Given the description of an element on the screen output the (x, y) to click on. 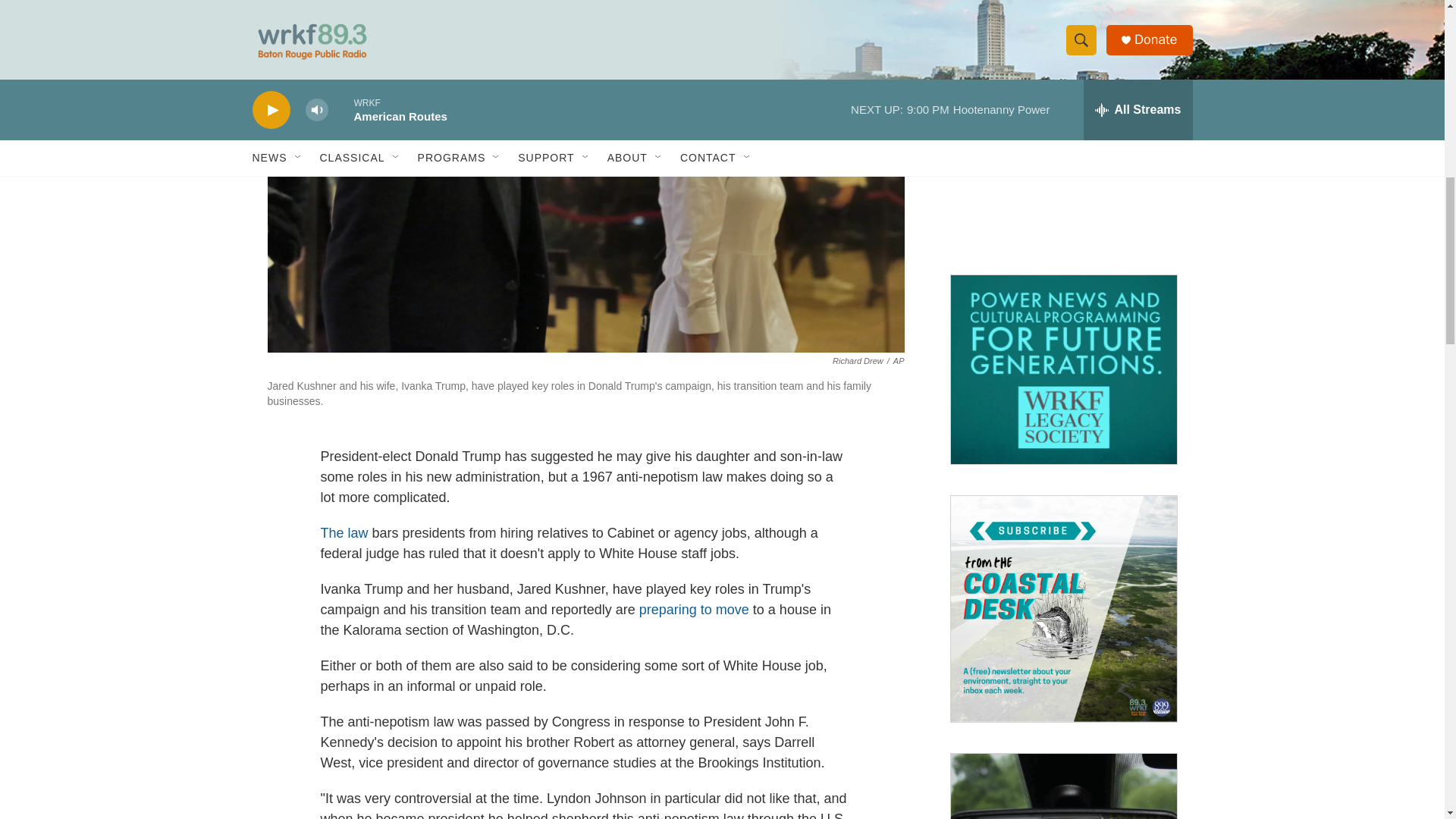
3rd party ad content (1062, 149)
